Given the description of an element on the screen output the (x, y) to click on. 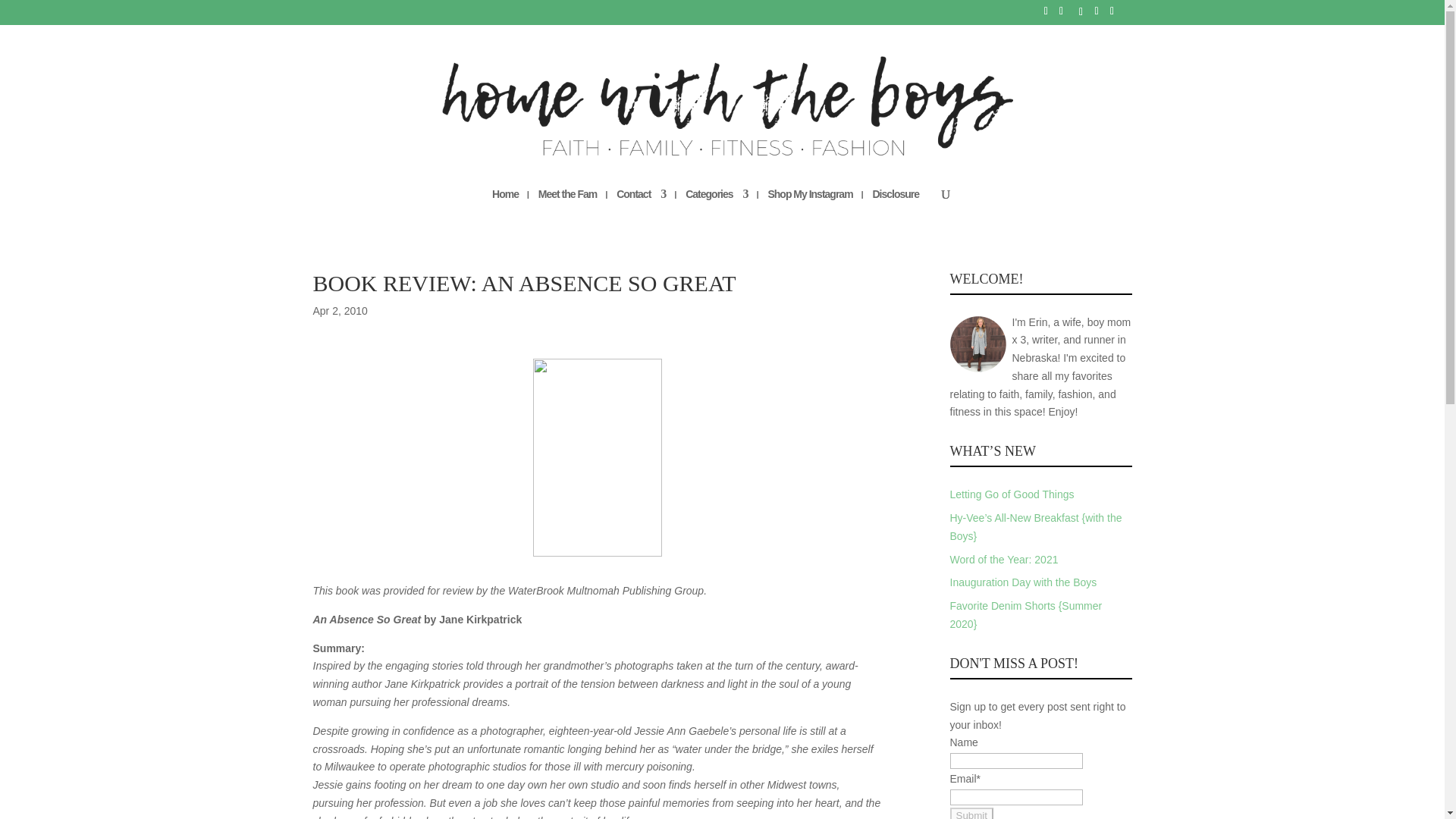
Submit (970, 813)
Contact (640, 207)
Categories (716, 207)
Shop My Instagram (809, 207)
Meet the Fam (567, 207)
Disclosure (895, 207)
